Given the description of an element on the screen output the (x, y) to click on. 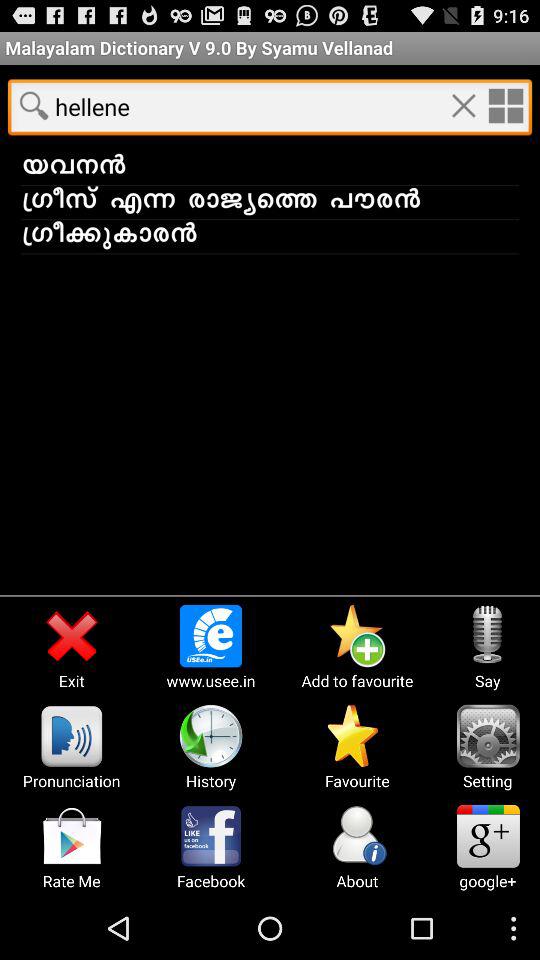
search for word (34, 105)
